Given the description of an element on the screen output the (x, y) to click on. 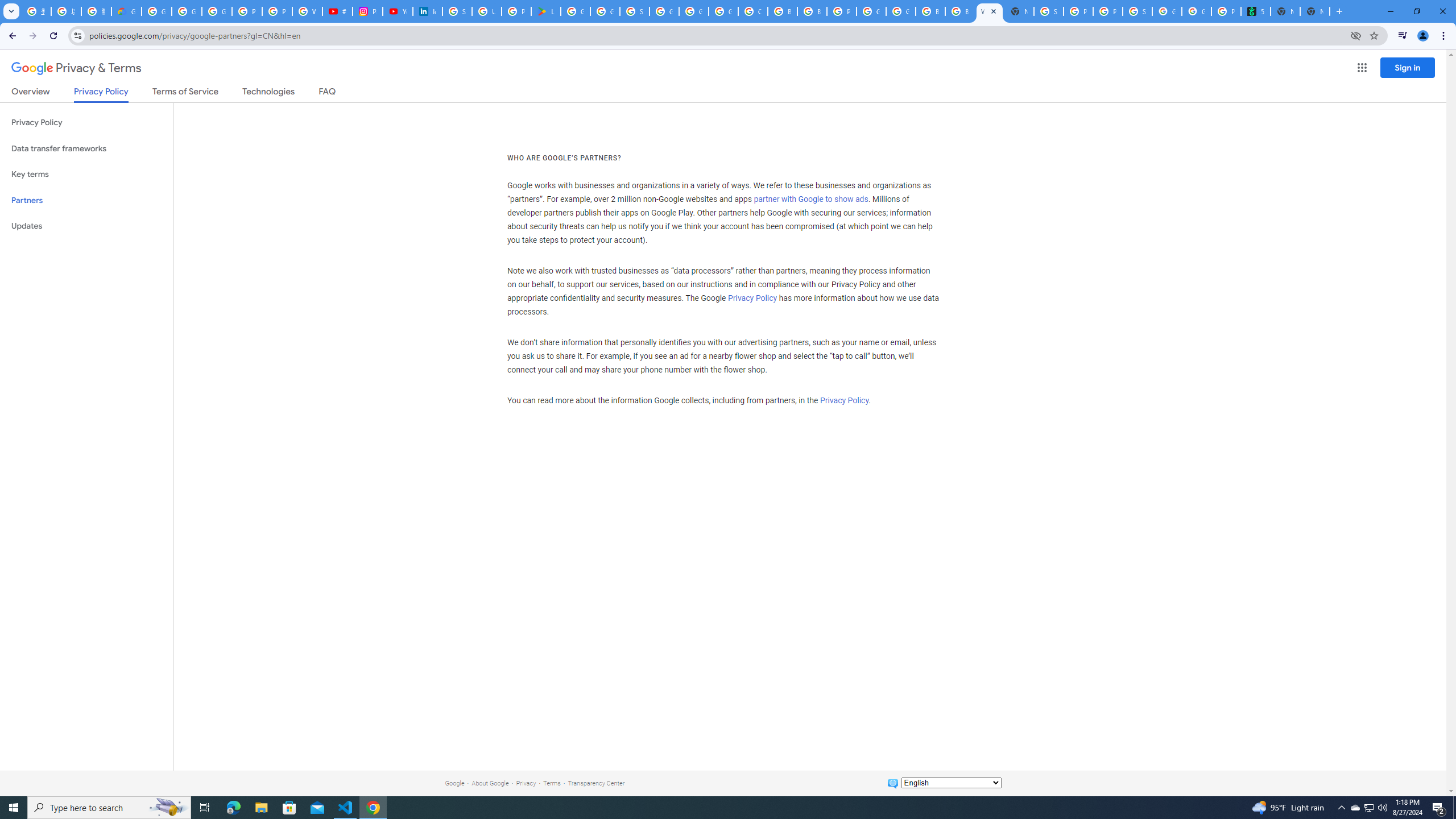
Google Cloud Platform (900, 11)
partner with Google to show ads (810, 199)
Overview (30, 93)
Transparency Center (595, 783)
New Tab (1314, 11)
Sign in - Google Accounts (456, 11)
Control your music, videos, and more (1402, 35)
